Given the description of an element on the screen output the (x, y) to click on. 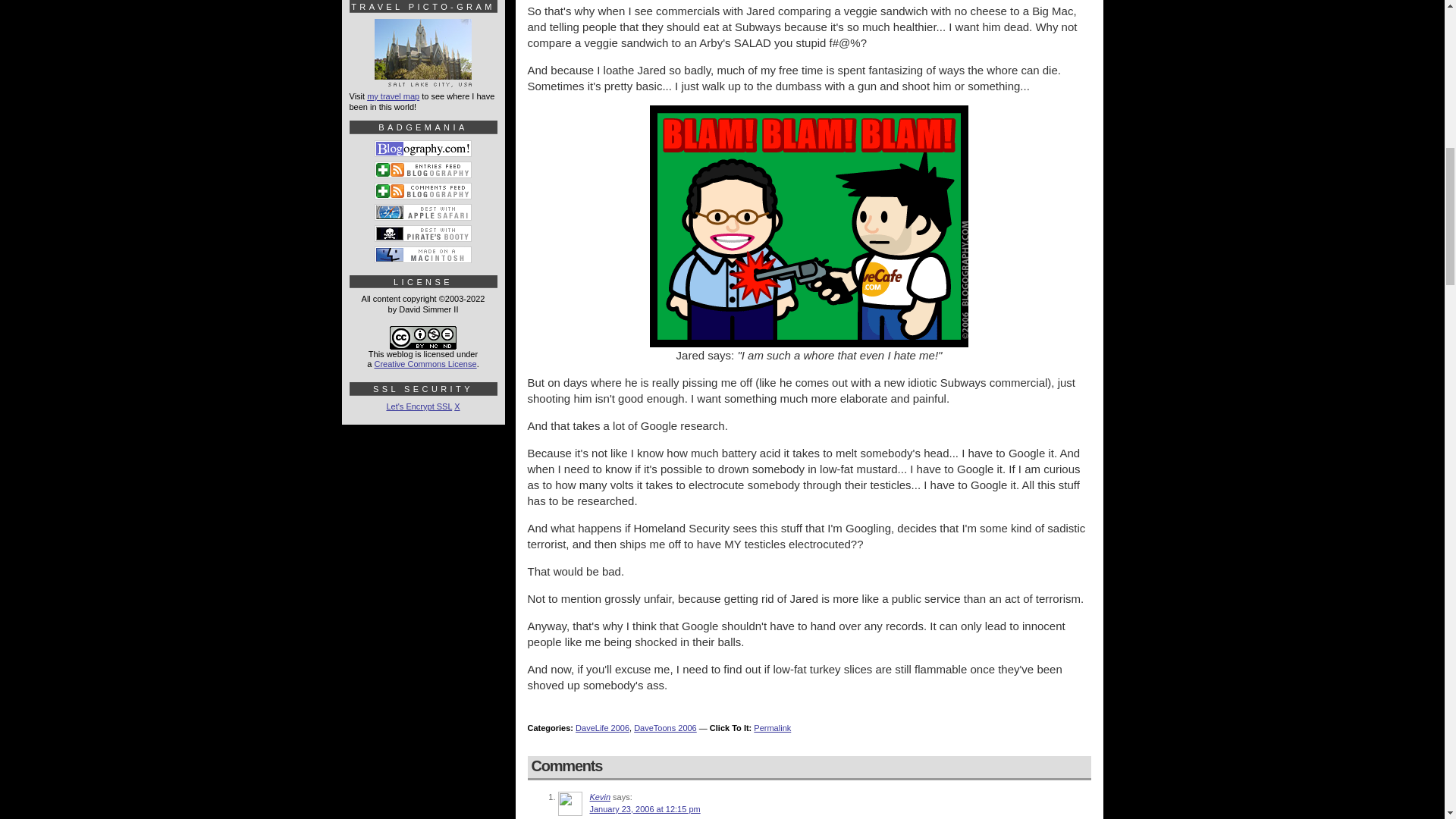
January 23, 2006 at 12:15 pm (644, 809)
DaveLife 2006 (601, 727)
Dave's Travel Map (392, 95)
Permalink (772, 727)
Kevin (600, 796)
Dave's Travel Map (422, 80)
DaveToons 2006 (665, 727)
